Given the description of an element on the screen output the (x, y) to click on. 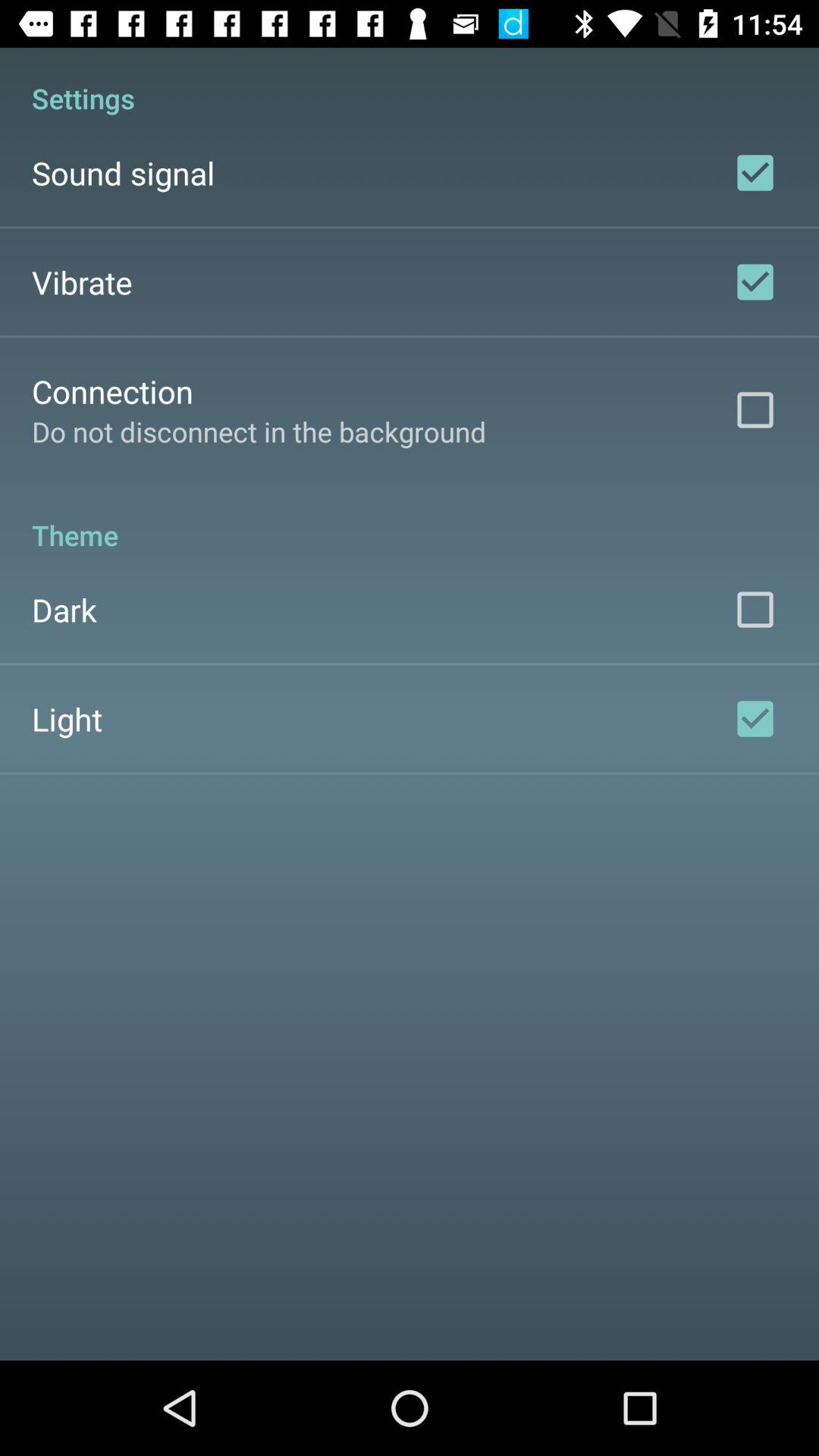
press icon below the theme app (63, 609)
